Given the description of an element on the screen output the (x, y) to click on. 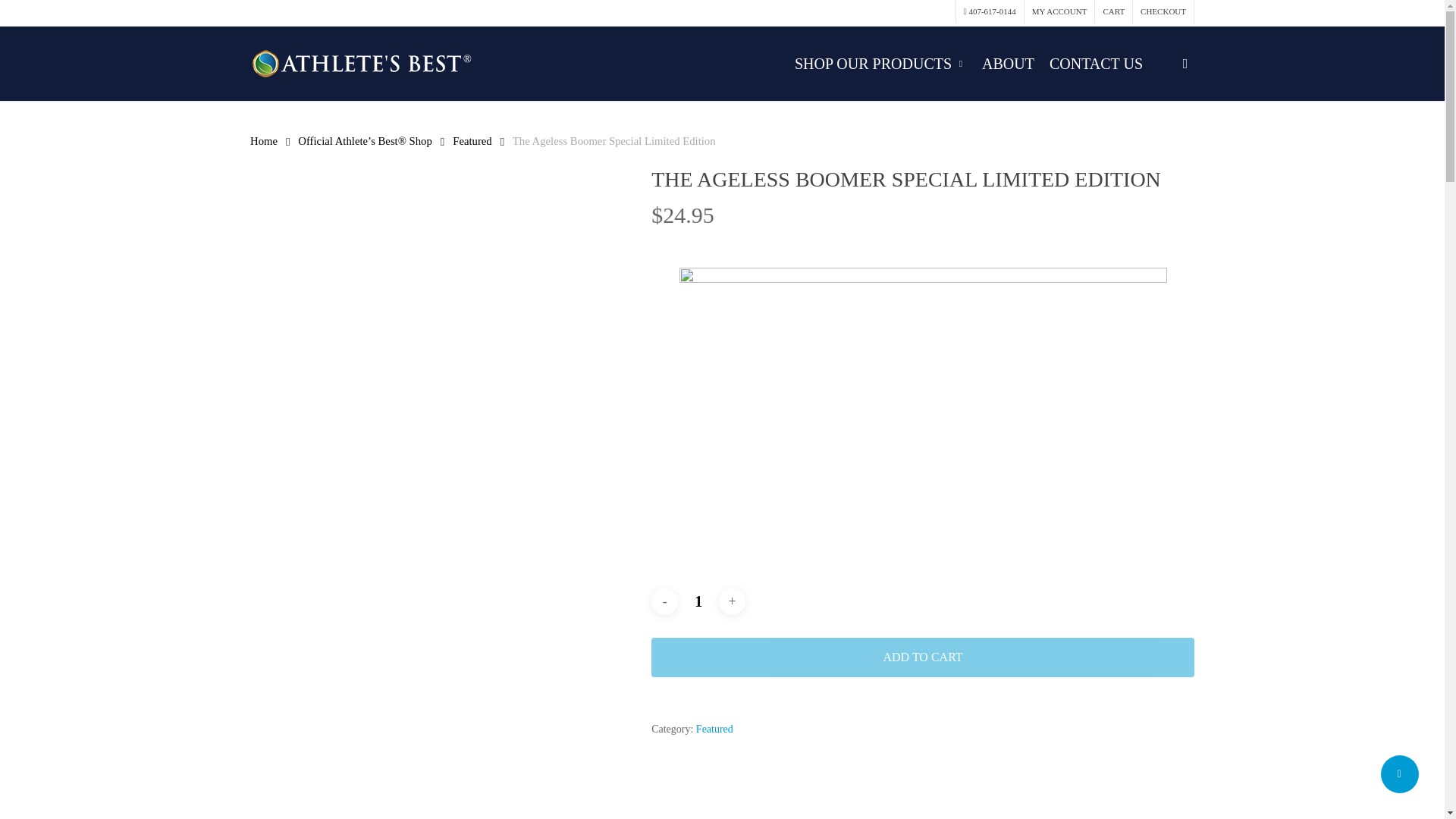
CHECKOUT (1162, 11)
Featured (714, 728)
CONTACT US (1096, 63)
MY ACCOUNT (1058, 11)
0 (1210, 70)
search (1184, 63)
Home (264, 141)
SHOP OUR PRODUCTS (880, 63)
1 (698, 601)
ADD TO CART (921, 657)
